Given the description of an element on the screen output the (x, y) to click on. 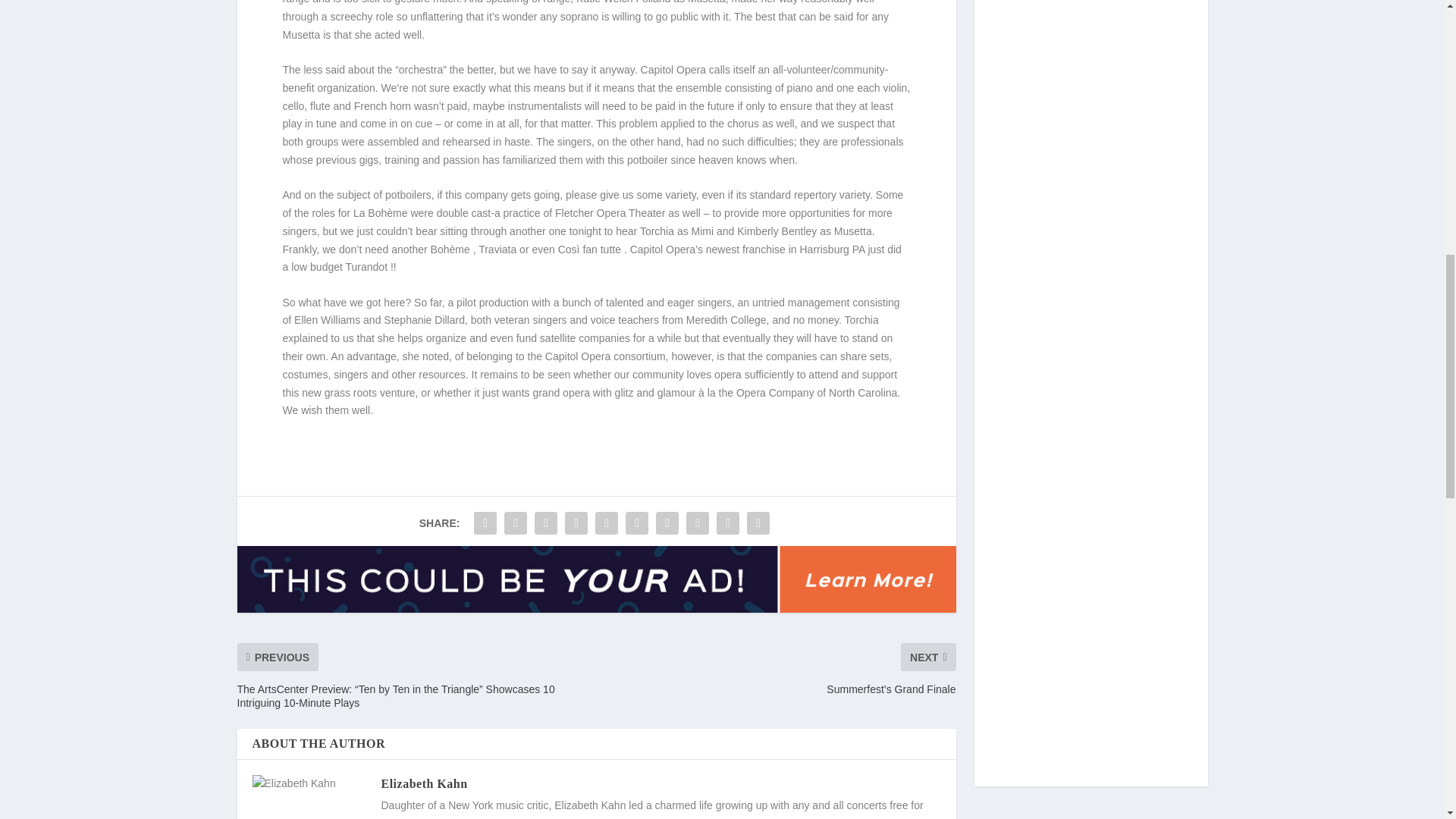
Share "New Opera Company Does a Test Drive" via Twitter (515, 522)
Share "New Opera Company Does a Test Drive" via Tumblr (575, 522)
Share "New Opera Company Does a Test Drive" via Print (757, 522)
Share "New Opera Company Does a Test Drive" via Pinterest (606, 522)
Share "New Opera Company Does a Test Drive" via Facebook (485, 522)
Share "New Opera Company Does a Test Drive" via Email (727, 522)
Share "New Opera Company Does a Test Drive" via Buffer (667, 522)
Share "New Opera Company Does a Test Drive" via Stumbleupon (697, 522)
Share "New Opera Company Does a Test Drive" via LinkedIn (636, 522)
